Given the description of an element on the screen output the (x, y) to click on. 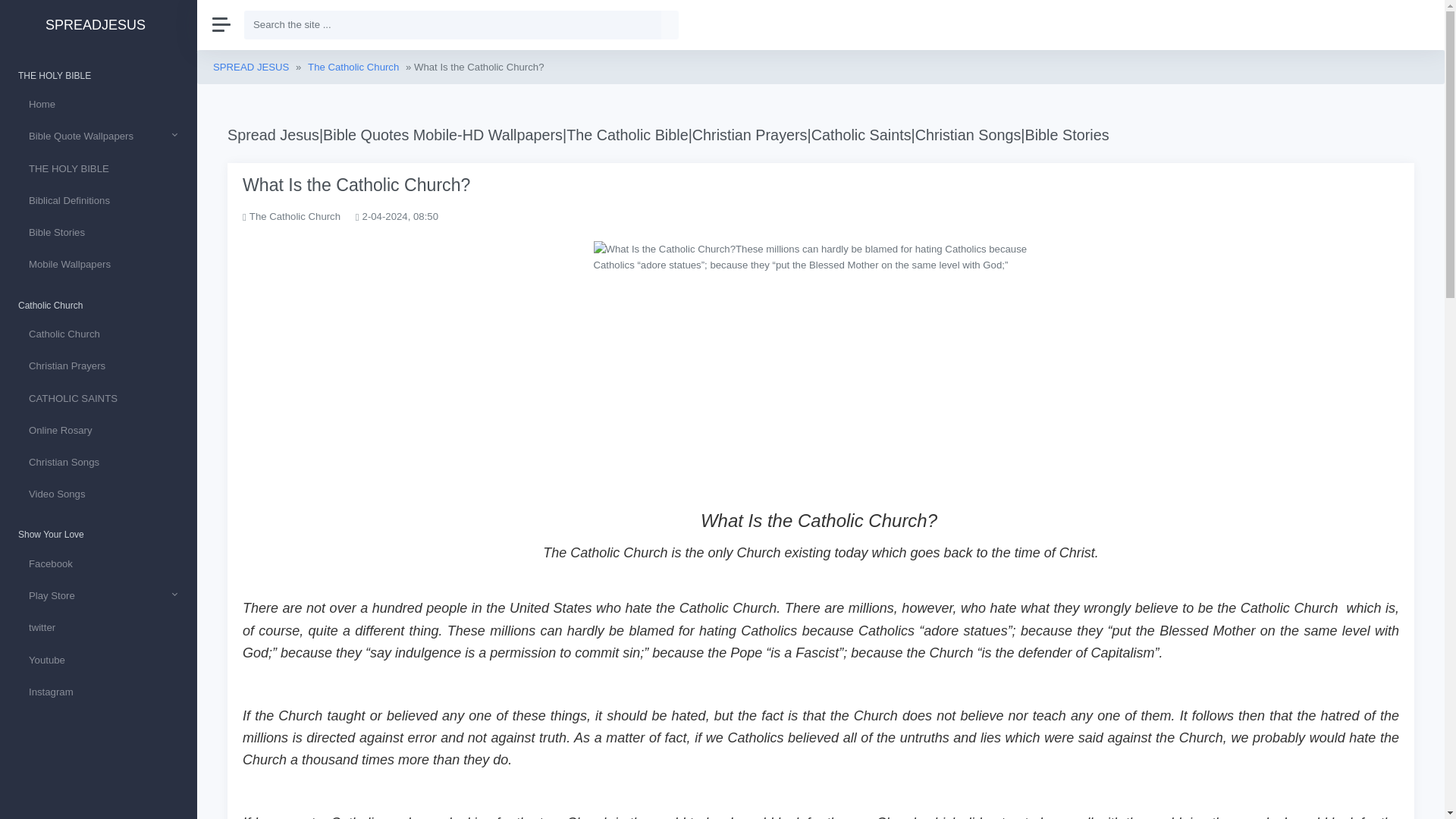
Christian Songs (98, 461)
Video Songs (98, 493)
Play Store (98, 594)
Bible Stories (98, 232)
THE HOLY BIBLE (98, 168)
Catholic Church (98, 333)
Bible Quote Wallpapers (98, 135)
Facebook (98, 563)
CATHOLIC SAINTS (98, 398)
Mobile Wallpapers (98, 264)
Biblical Definitions (98, 200)
Home (98, 103)
SPREADJESUS (98, 25)
Christian Prayers (98, 365)
Online Rosary (98, 429)
